Given the description of an element on the screen output the (x, y) to click on. 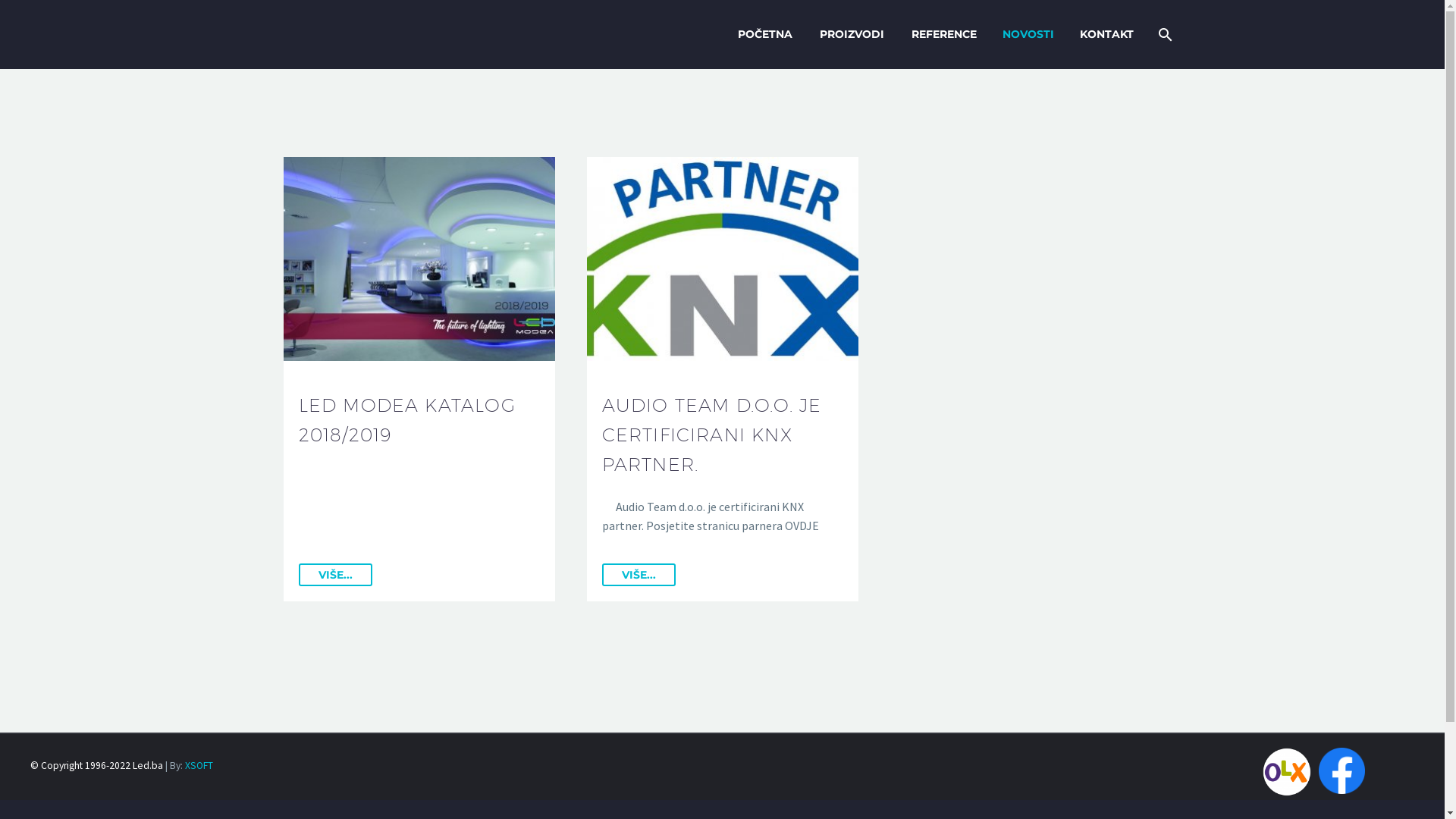
KONTAKT Element type: text (1105, 34)
REFERENCE Element type: text (943, 34)
XSOFT Element type: text (199, 765)
LED MODEA KATALOG 2018/2019 Element type: text (406, 419)
AUDIO TEAM D.O.O. JE CERTIFICIRANI KNX PARTNER. Element type: text (712, 434)
PROIZVODI Element type: text (851, 34)
NOVOSTI Element type: text (1027, 34)
